Given the description of an element on the screen output the (x, y) to click on. 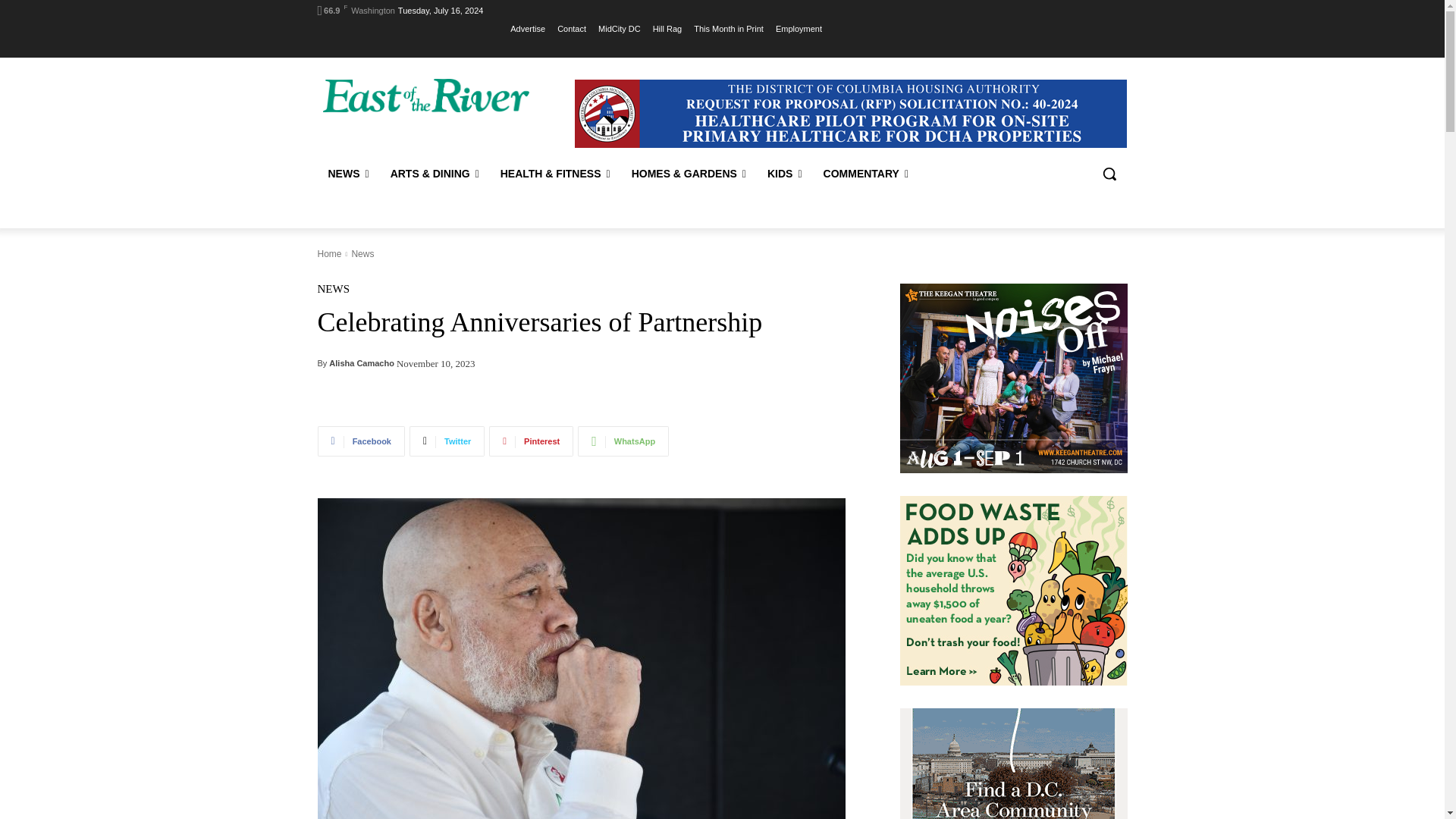
This Month in Print (728, 28)
MidCity DC (619, 28)
Employment (799, 28)
Advertise (527, 28)
Hill Rag (667, 28)
Contact (571, 28)
NEWS (347, 173)
